Given the description of an element on the screen output the (x, y) to click on. 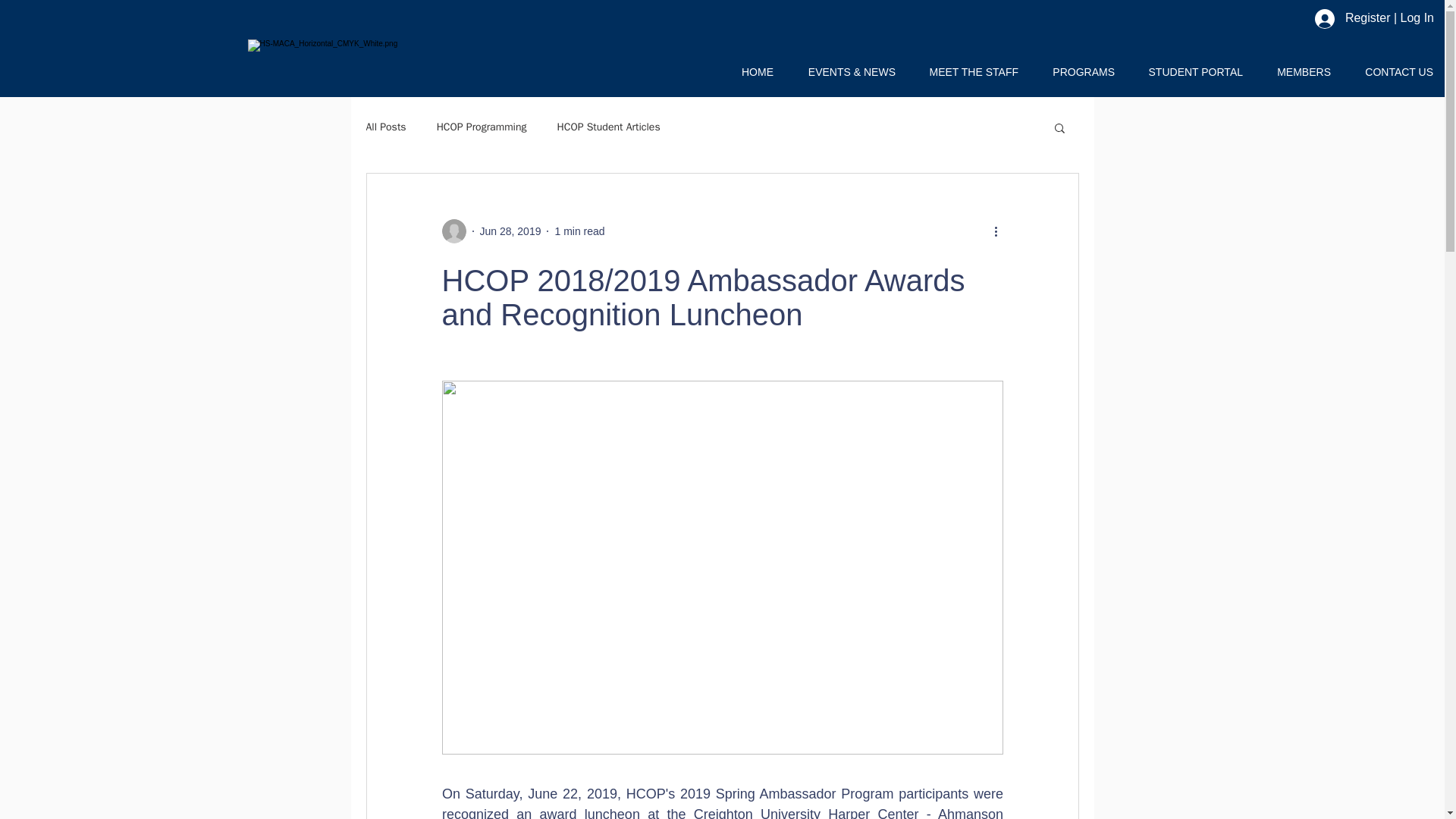
MEET THE STAFF (968, 71)
1 min read (579, 230)
MEMBERS (1297, 71)
HCOP Programming (481, 127)
HOME (750, 71)
HCOP Student Articles (609, 127)
Jun 28, 2019 (509, 230)
All Posts (385, 127)
PROGRAMS (1077, 71)
STUDENT PORTAL (1189, 71)
